Given the description of an element on the screen output the (x, y) to click on. 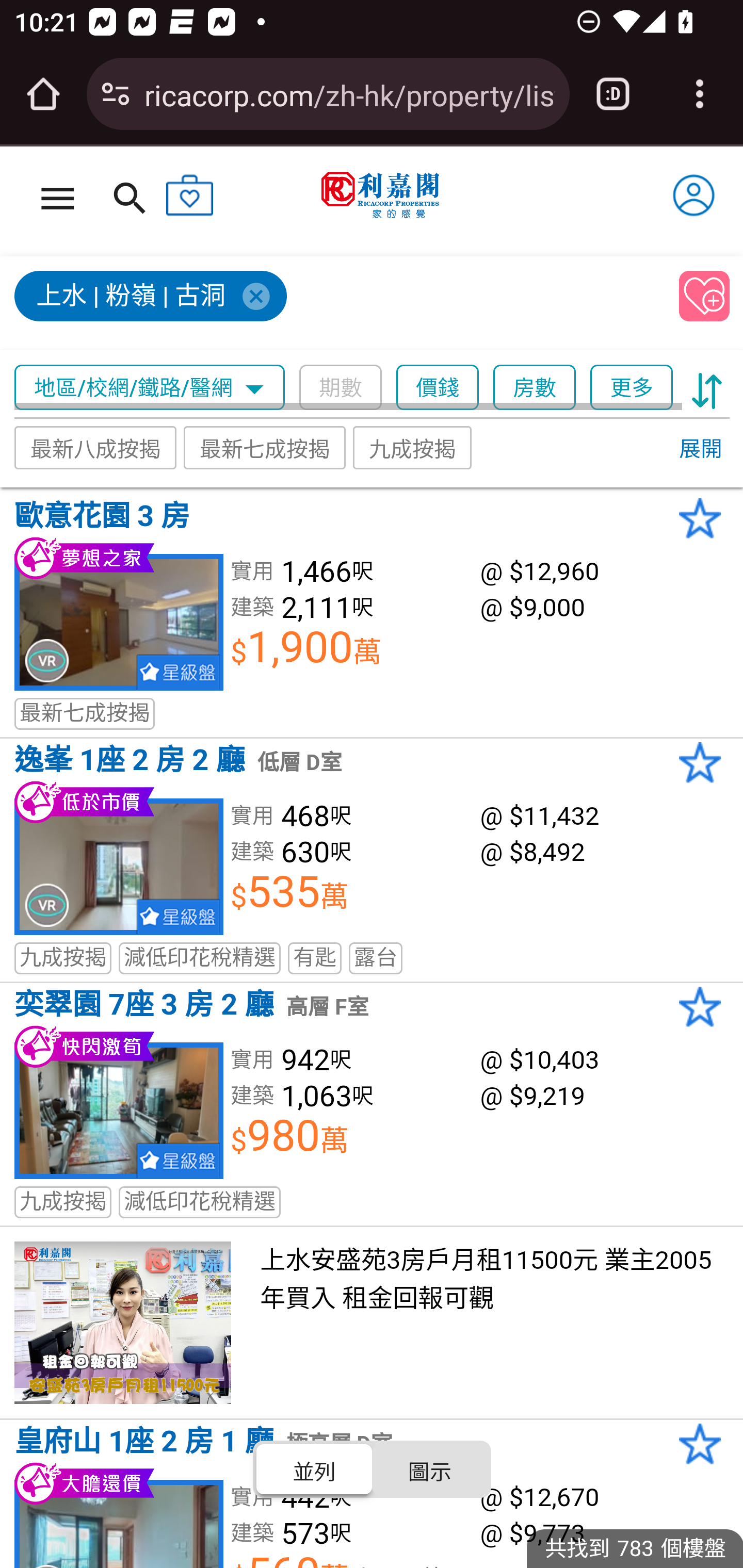
Open the home page (43, 93)
Connection is secure (115, 93)
Switch or close tabs (612, 93)
Customize and control Google Chrome (699, 93)
地區/校網/鐵路 (124, 387)
sort (706, 387)
並列 (314, 1468)
圖示 (429, 1468)
